Given the description of an element on the screen output the (x, y) to click on. 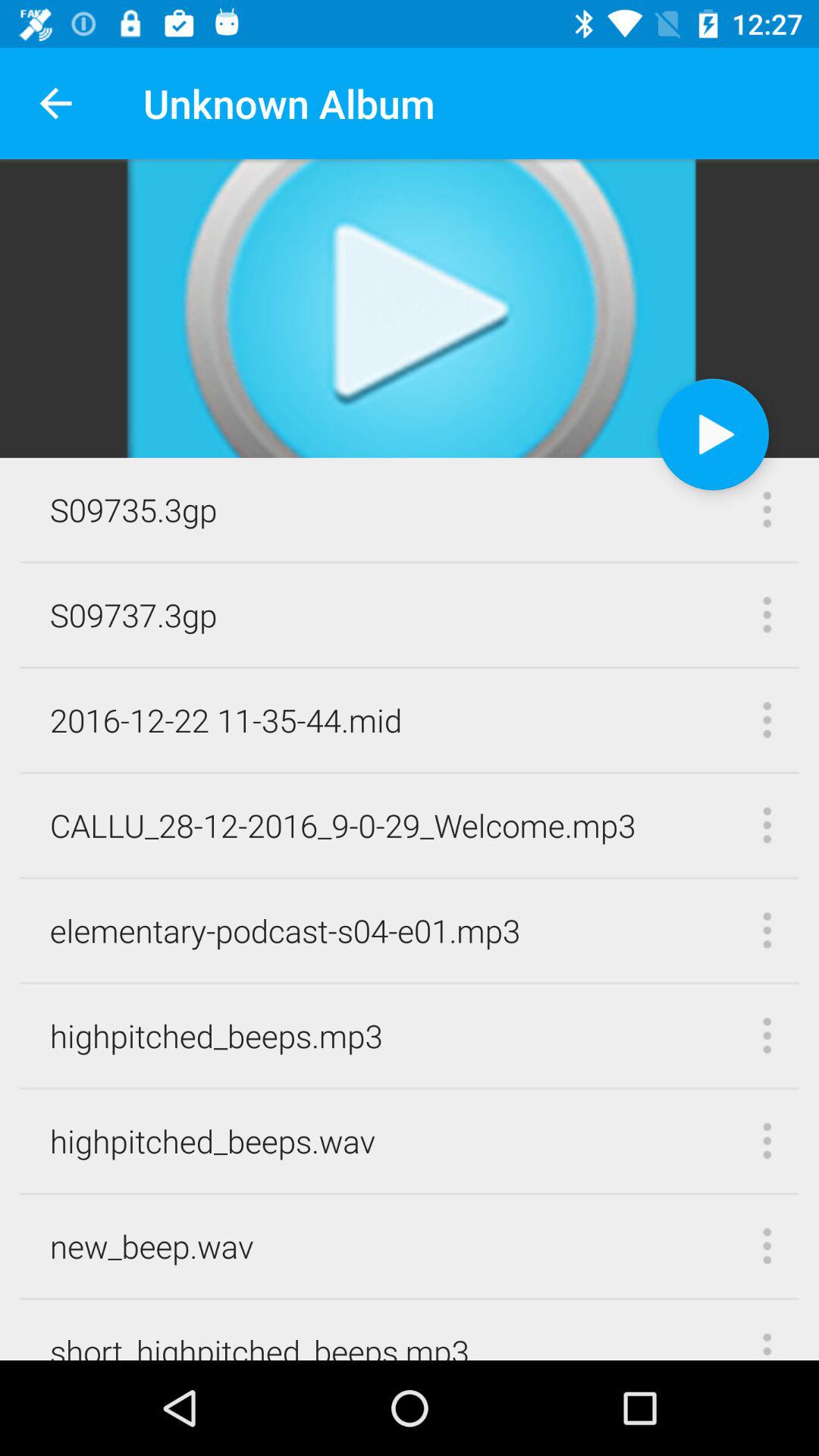
tap the icon at the top right corner (712, 434)
